Given the description of an element on the screen output the (x, y) to click on. 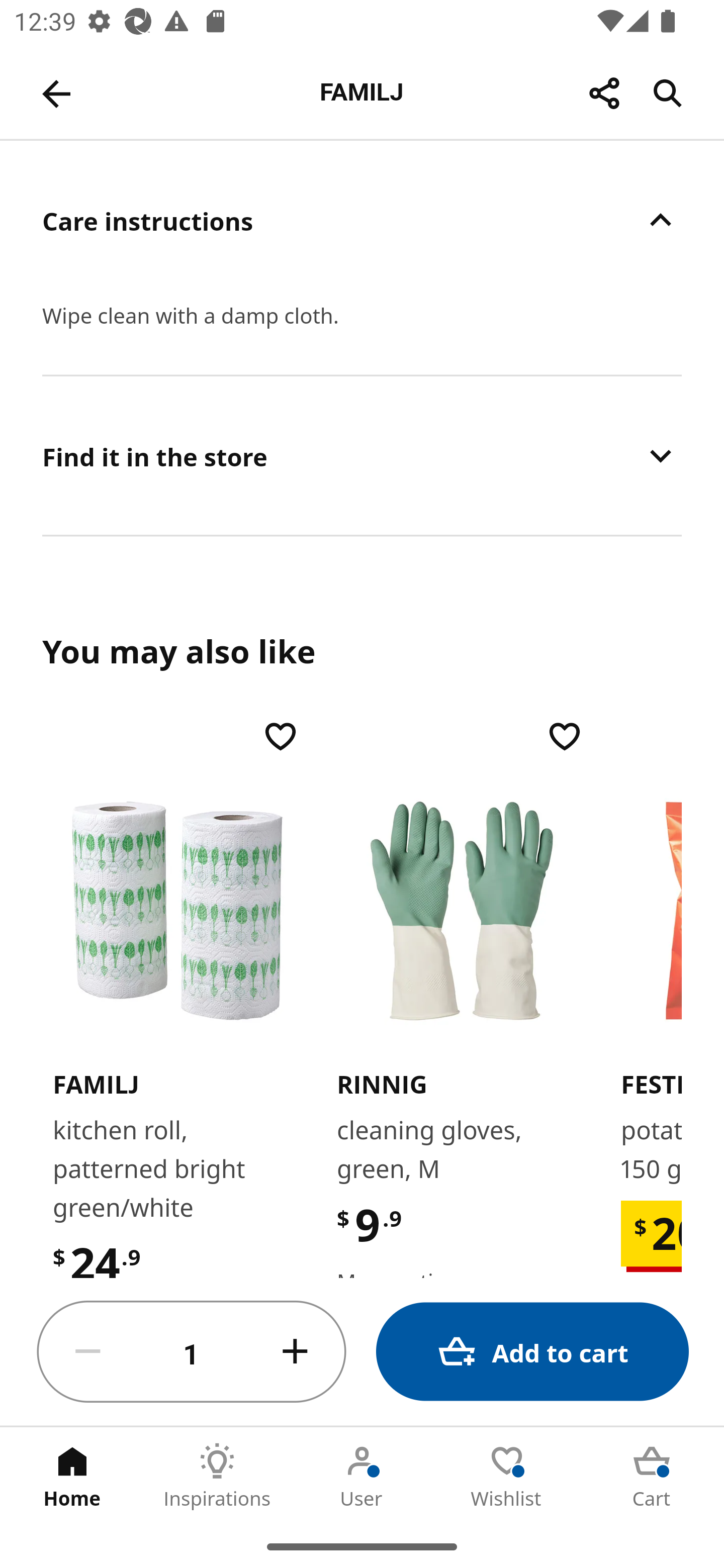
Care instructions (361, 219)
Find it in the store (361, 455)
Add to cart (531, 1352)
1 (191, 1352)
Home
Tab 1 of 5 (72, 1476)
Inspirations
Tab 2 of 5 (216, 1476)
User
Tab 3 of 5 (361, 1476)
Wishlist
Tab 4 of 5 (506, 1476)
Cart
Tab 5 of 5 (651, 1476)
